Given the description of an element on the screen output the (x, y) to click on. 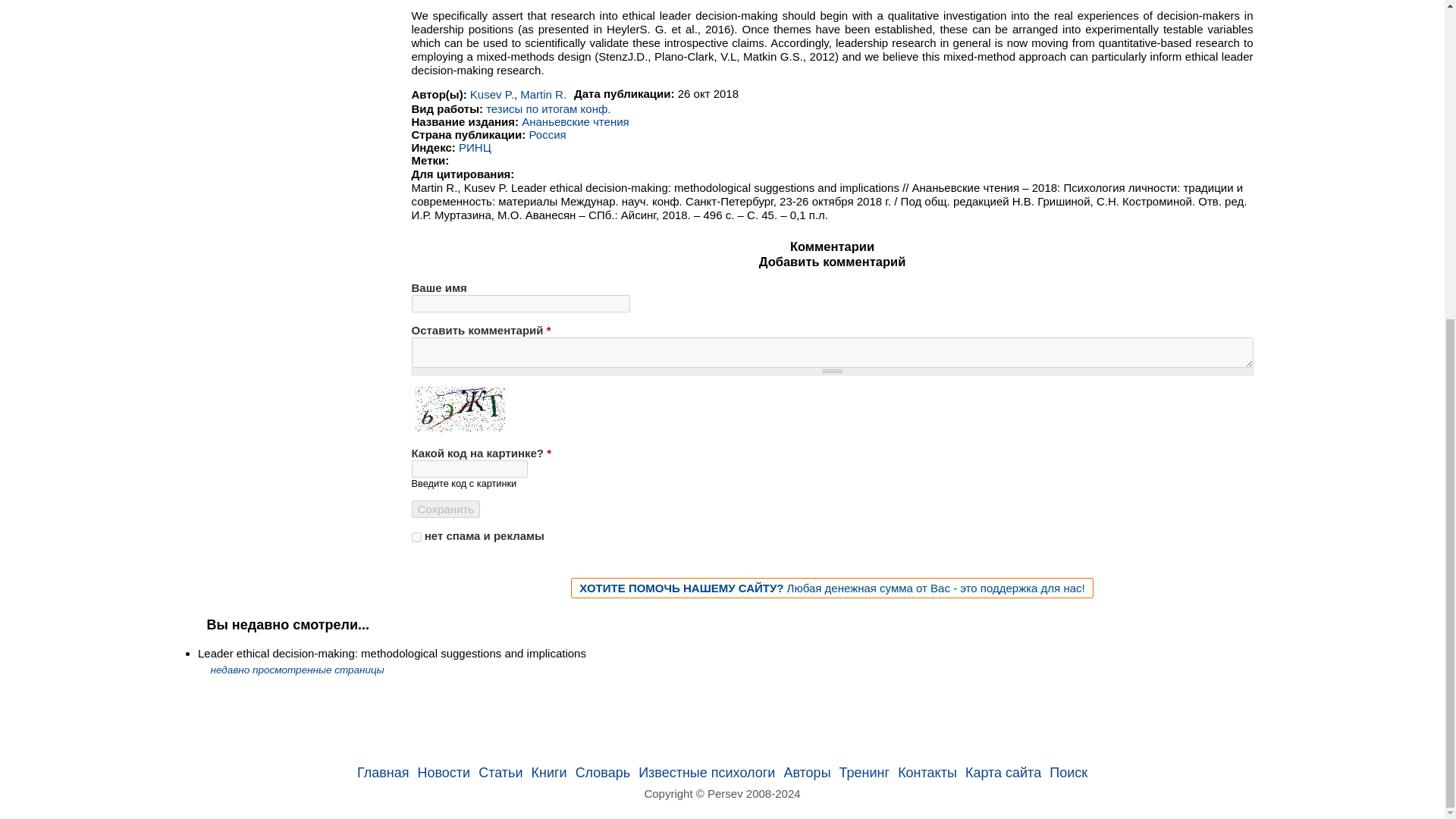
1 (415, 536)
Martin R. (542, 93)
Kusev P. (491, 93)
